Given the description of an element on the screen output the (x, y) to click on. 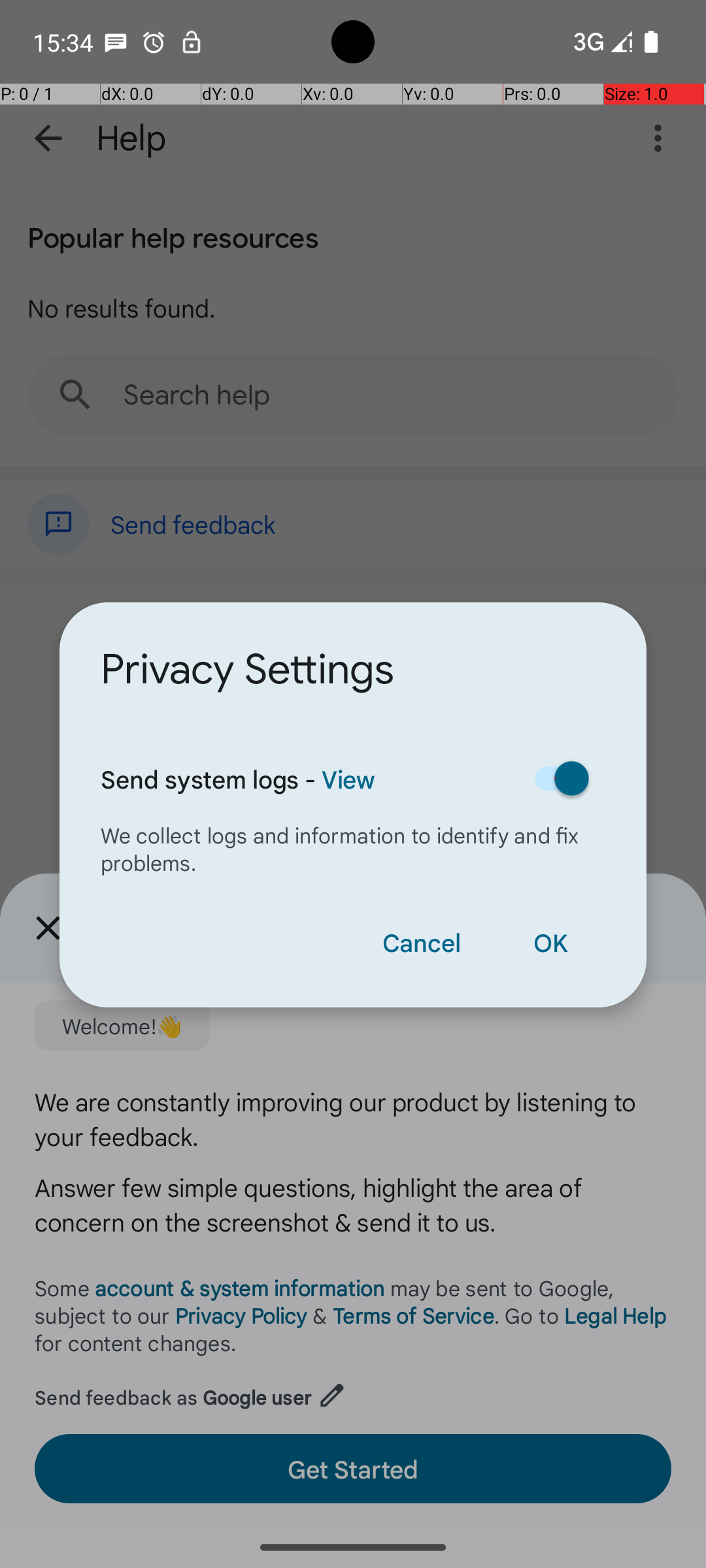
Privacy Settings Element type: android.widget.TextView (247, 669)
Send system logs - View Element type: android.widget.TextView (302, 777)
Send system logs Element type: android.widget.Switch (554, 777)
We collect logs and information to identify and fix problems. Element type: android.widget.TextView (352, 847)
